Given the description of an element on the screen output the (x, y) to click on. 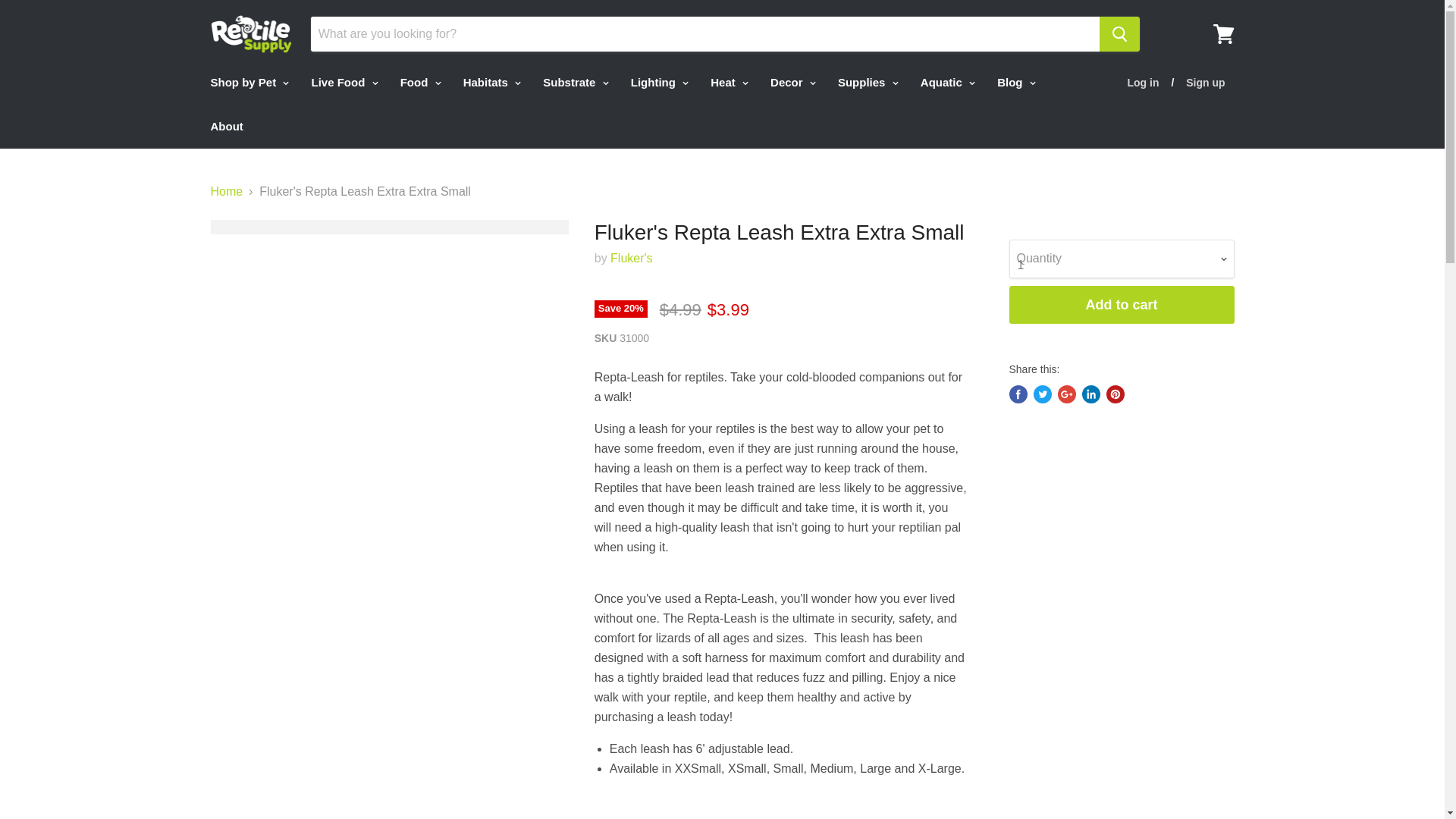
View cart (1223, 33)
Live Food (342, 82)
Shop by Pet (247, 82)
Fluker's (631, 257)
